Given the description of an element on the screen output the (x, y) to click on. 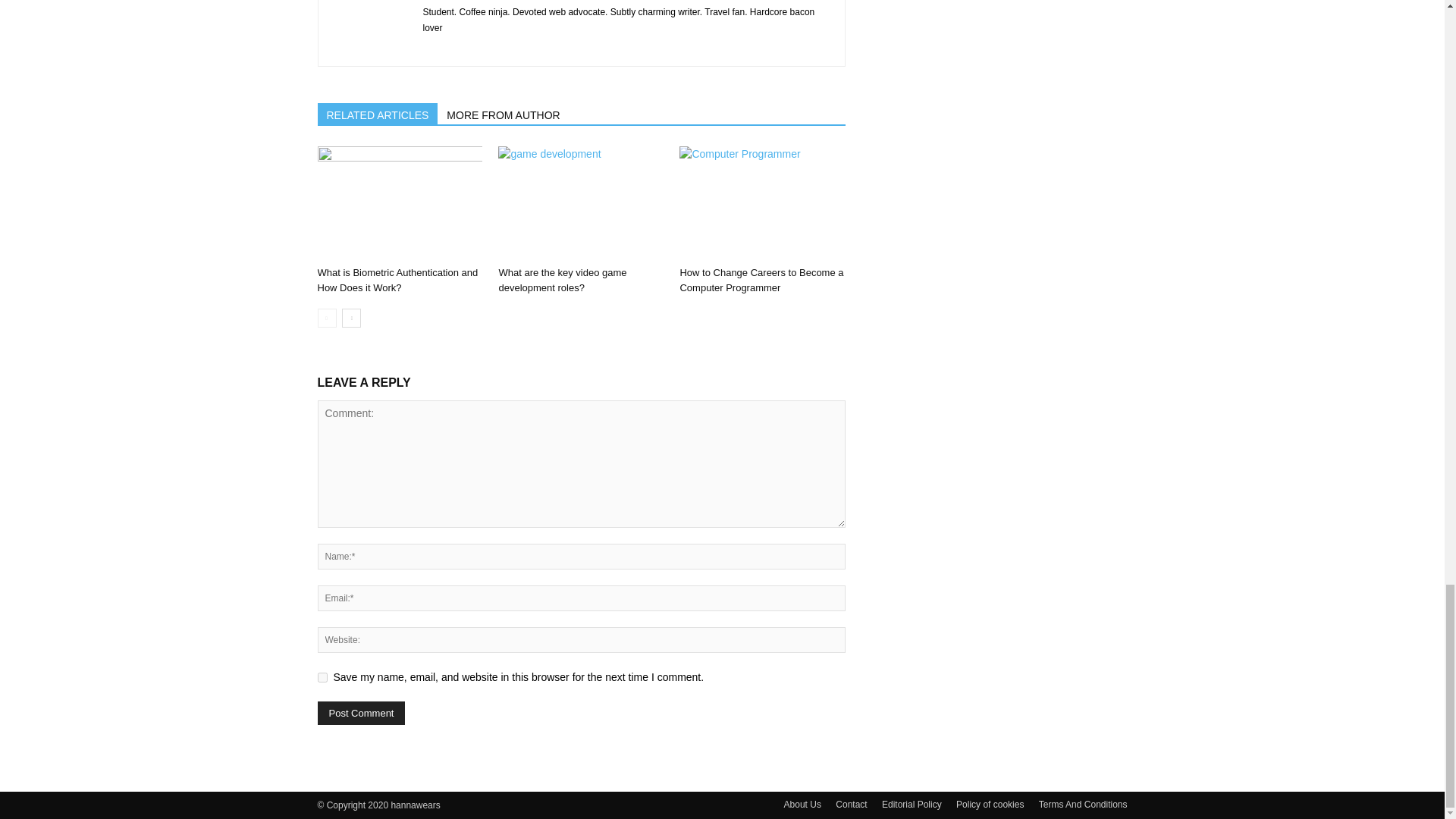
What is Biometric Authentication and How Does it Work? (399, 203)
What are the key video game development roles? (580, 203)
How to Change Careers to Become a Computer Programmer (761, 279)
What are the key video game development roles? (561, 279)
What is Biometric Authentication and How Does it Work? (397, 279)
yes (321, 677)
Post Comment (360, 712)
How to Change Careers to Become a Computer Programmer (761, 203)
